Given the description of an element on the screen output the (x, y) to click on. 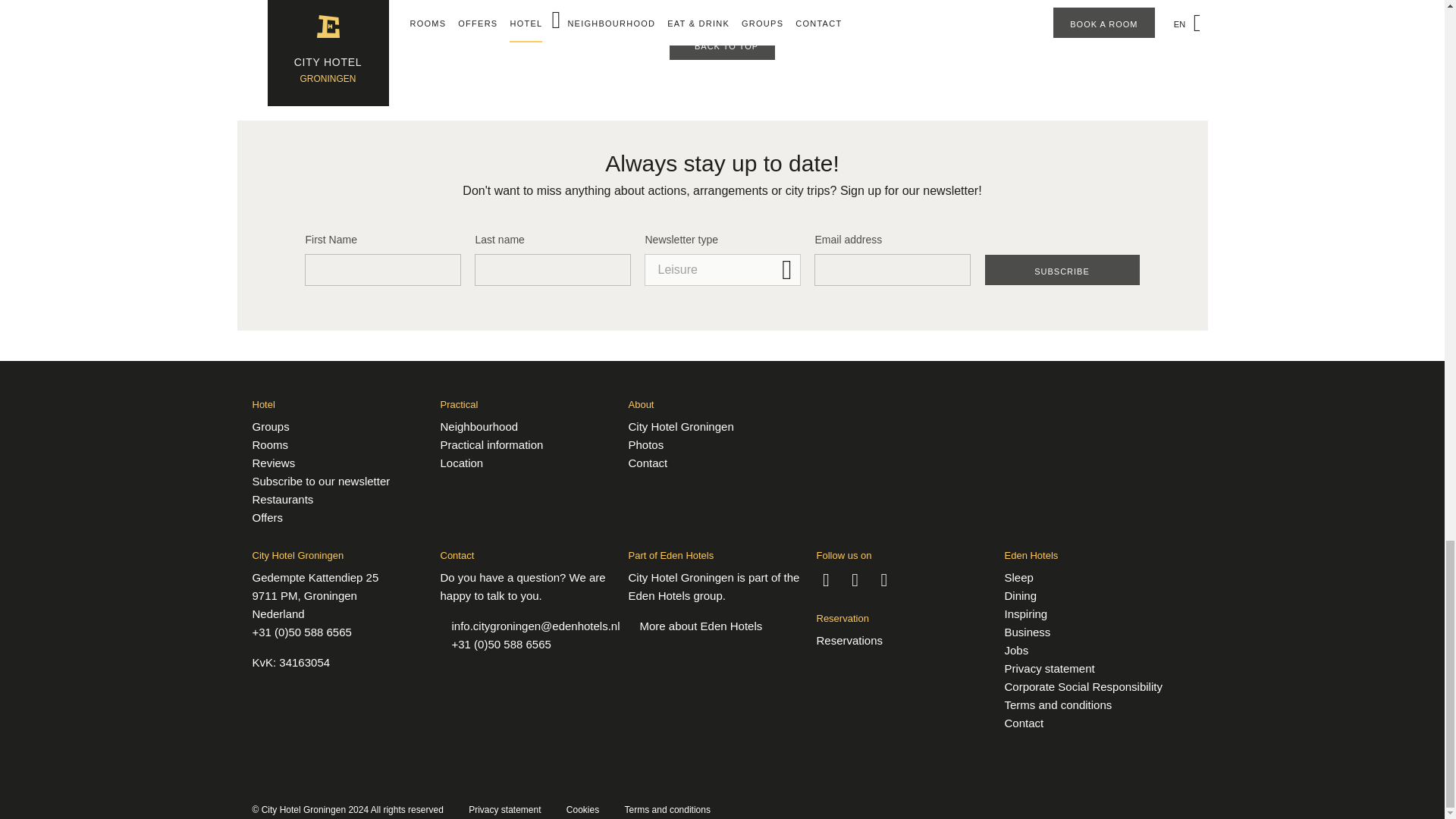
Contact (646, 462)
Reviews (273, 462)
BACK TO TOP (721, 44)
Offers (266, 517)
LinkedIn (884, 578)
Facebook (825, 578)
Location (461, 462)
Subscribe to our newsletter (320, 481)
SUBSCRIBE (1061, 269)
Practical information (491, 444)
